Given the description of an element on the screen output the (x, y) to click on. 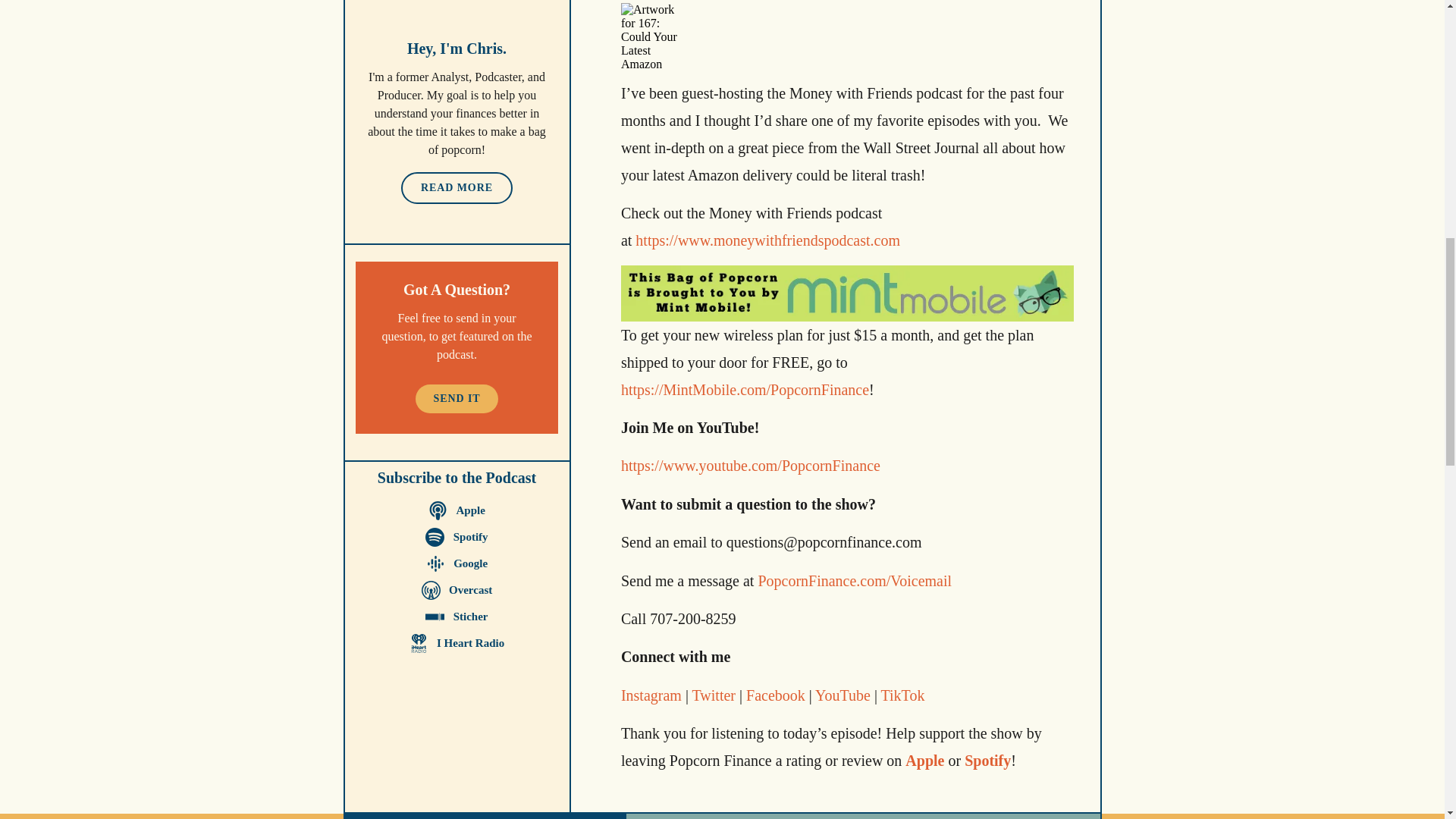
Spotify (986, 760)
I Heart Radio (456, 642)
Google (456, 563)
Sticher (456, 616)
READ MORE (456, 187)
Twitter (711, 695)
TikTok (900, 695)
Instagram (651, 695)
YouTube (841, 695)
Facebook (773, 695)
Overcast (456, 589)
Apple (456, 510)
Apple (924, 760)
Spotify (456, 537)
